Given the description of an element on the screen output the (x, y) to click on. 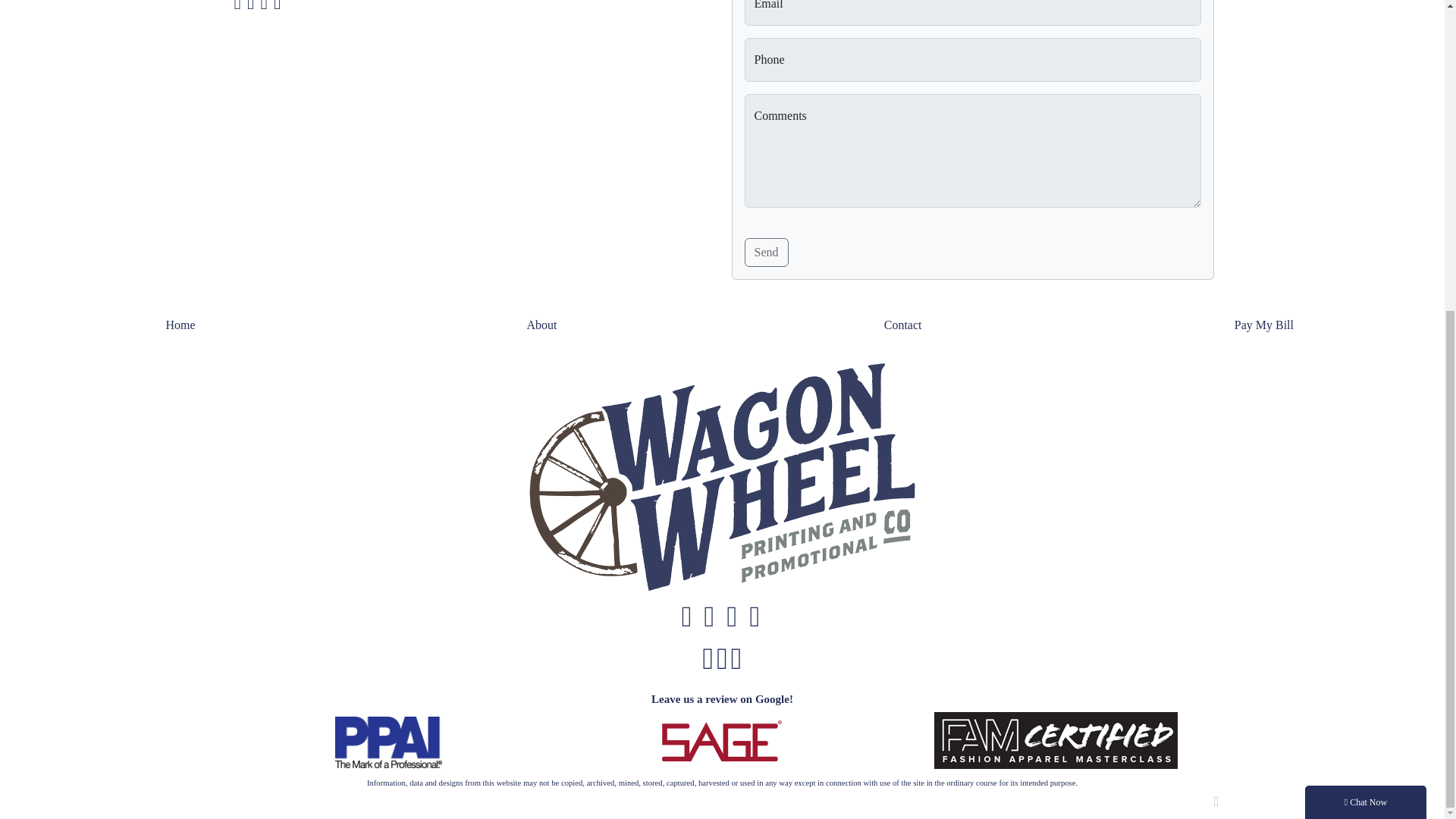
Chat Now (1365, 308)
Send (766, 252)
